Given the description of an element on the screen output the (x, y) to click on. 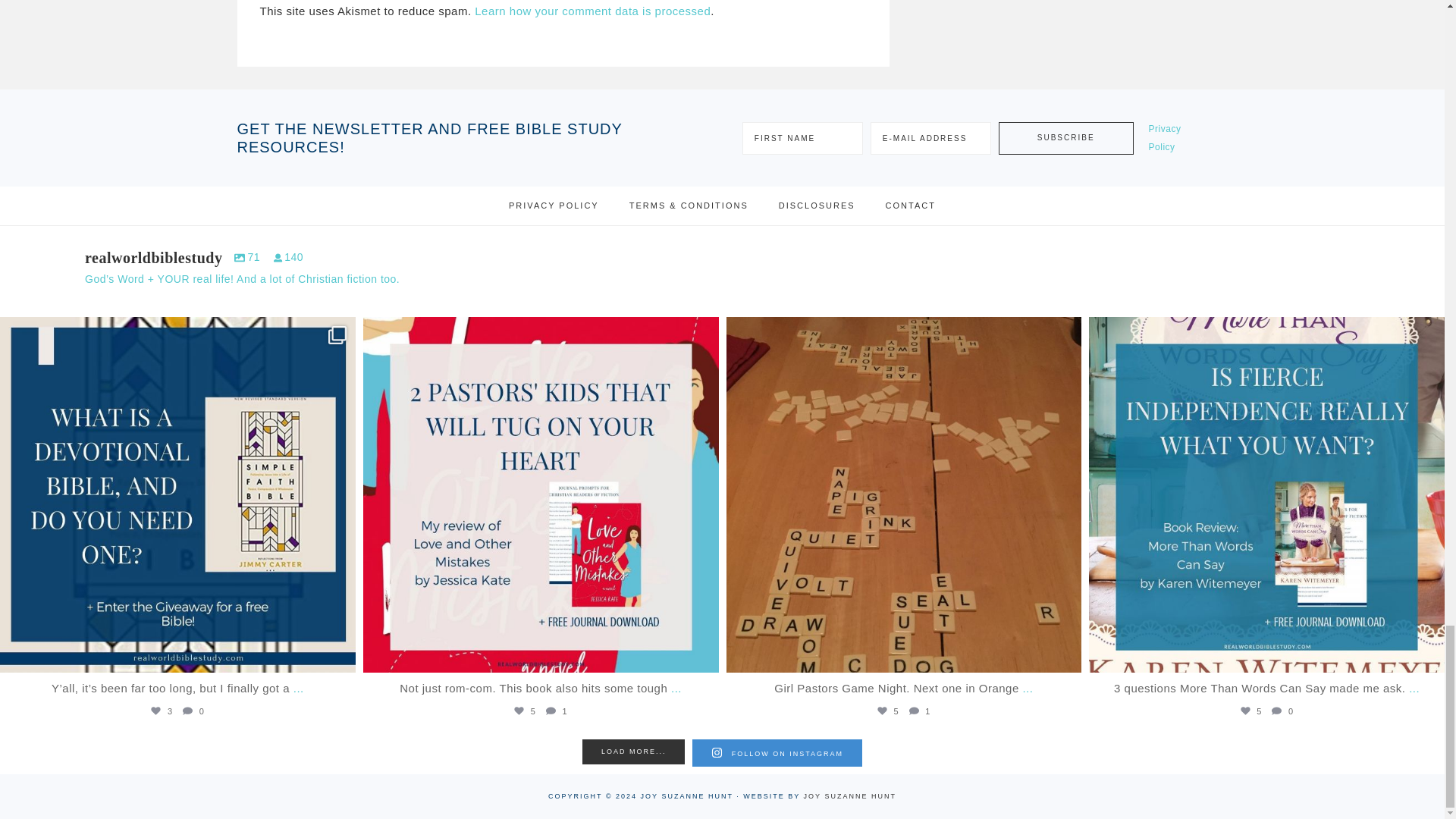
Subscribe (1066, 138)
